Given the description of an element on the screen output the (x, y) to click on. 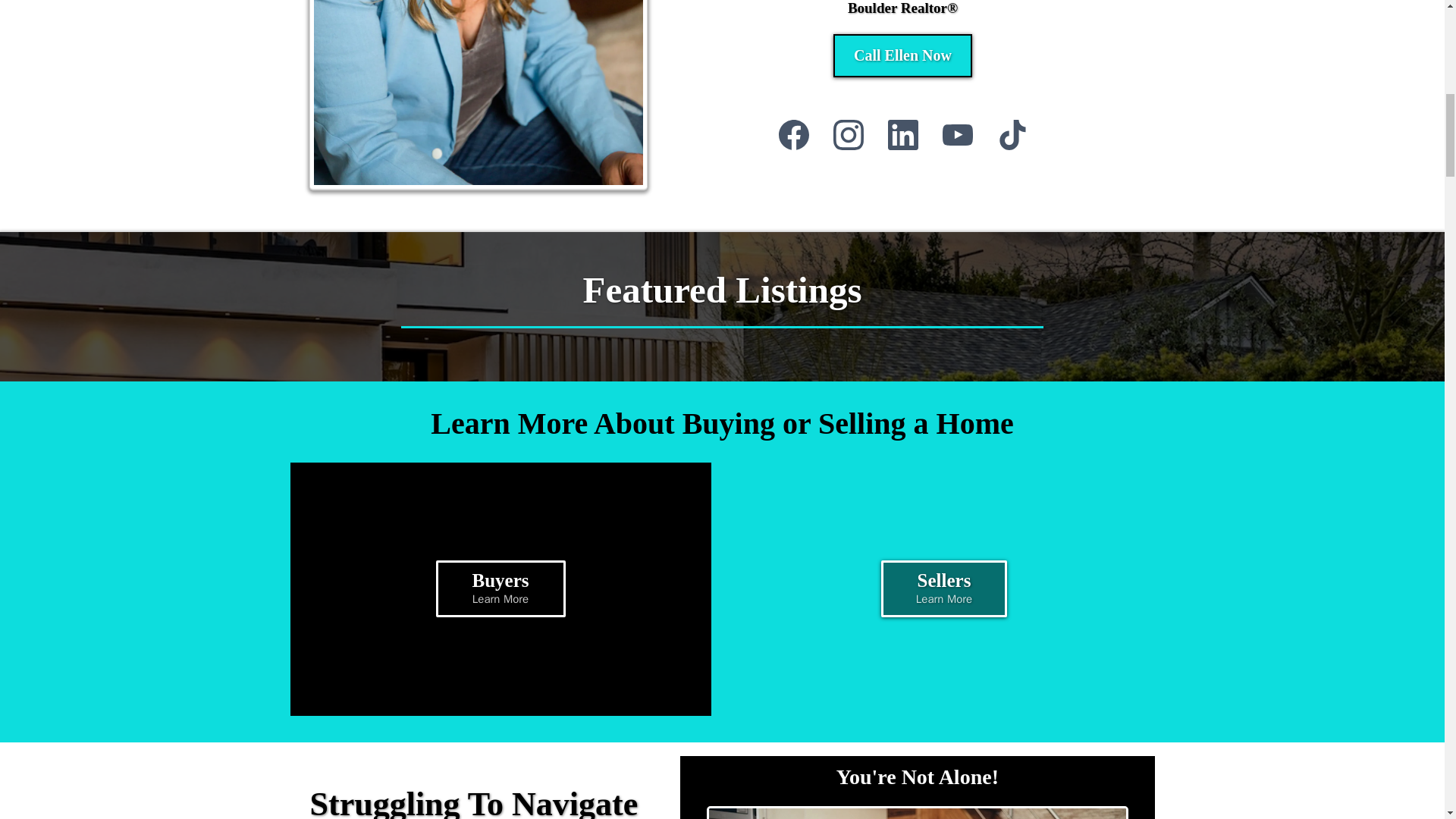
Call Ellen Now (499, 588)
